Given the description of an element on the screen output the (x, y) to click on. 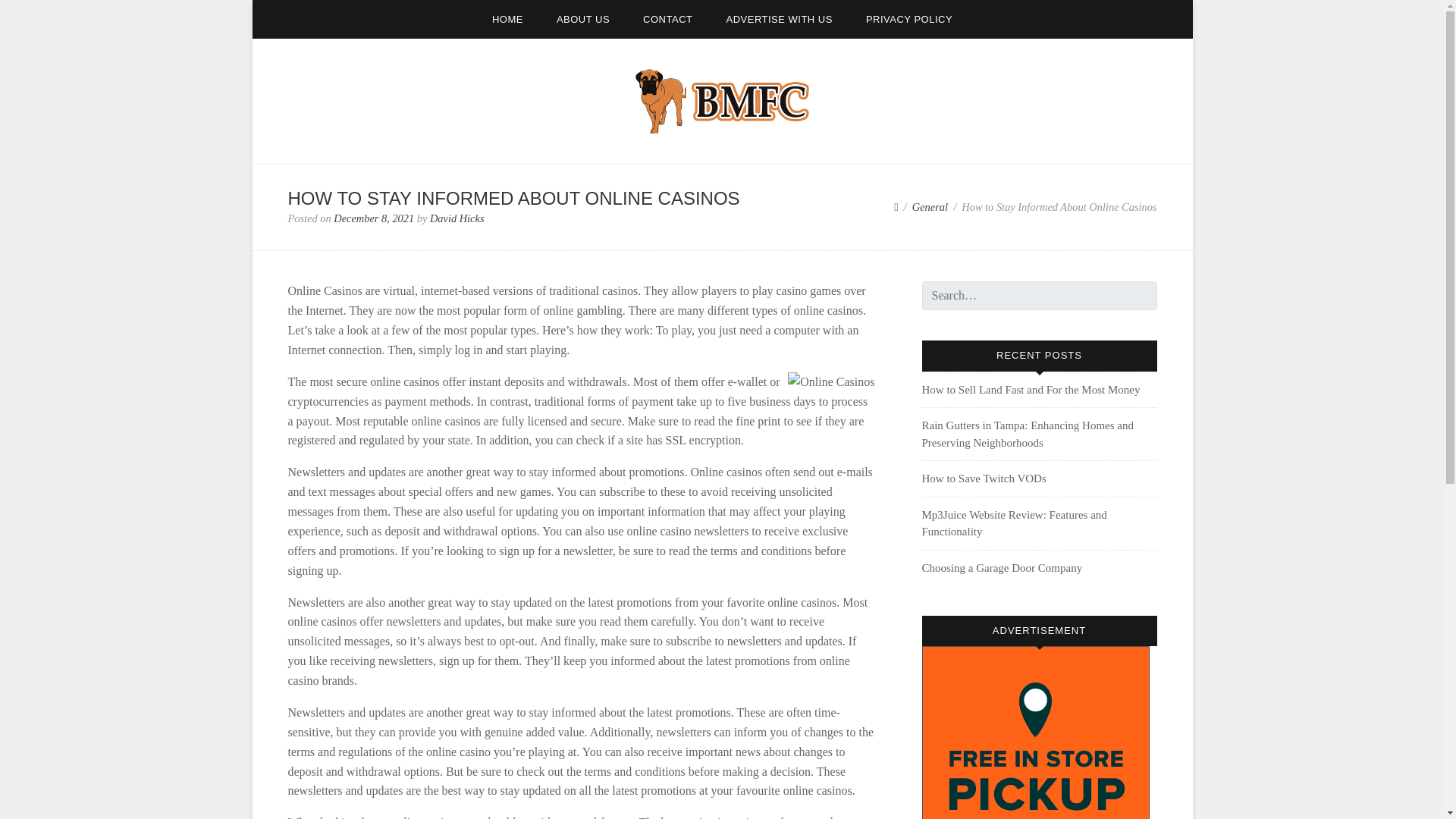
ABOUT US (582, 19)
General (929, 206)
December 8, 2021 (373, 218)
How to Sell Land Fast and For the Most Money (1030, 389)
HOME (507, 19)
How to Save Twitch VODs (983, 478)
ADVERTISE WITH US (778, 19)
CONTACT (667, 19)
Mp3Juice Website Review: Features and Functionality (1013, 523)
BMFC.CA (322, 151)
Choosing a Garage Door Company (1002, 567)
David Hicks (456, 218)
PRIVACY POLICY (909, 19)
